Given the description of an element on the screen output the (x, y) to click on. 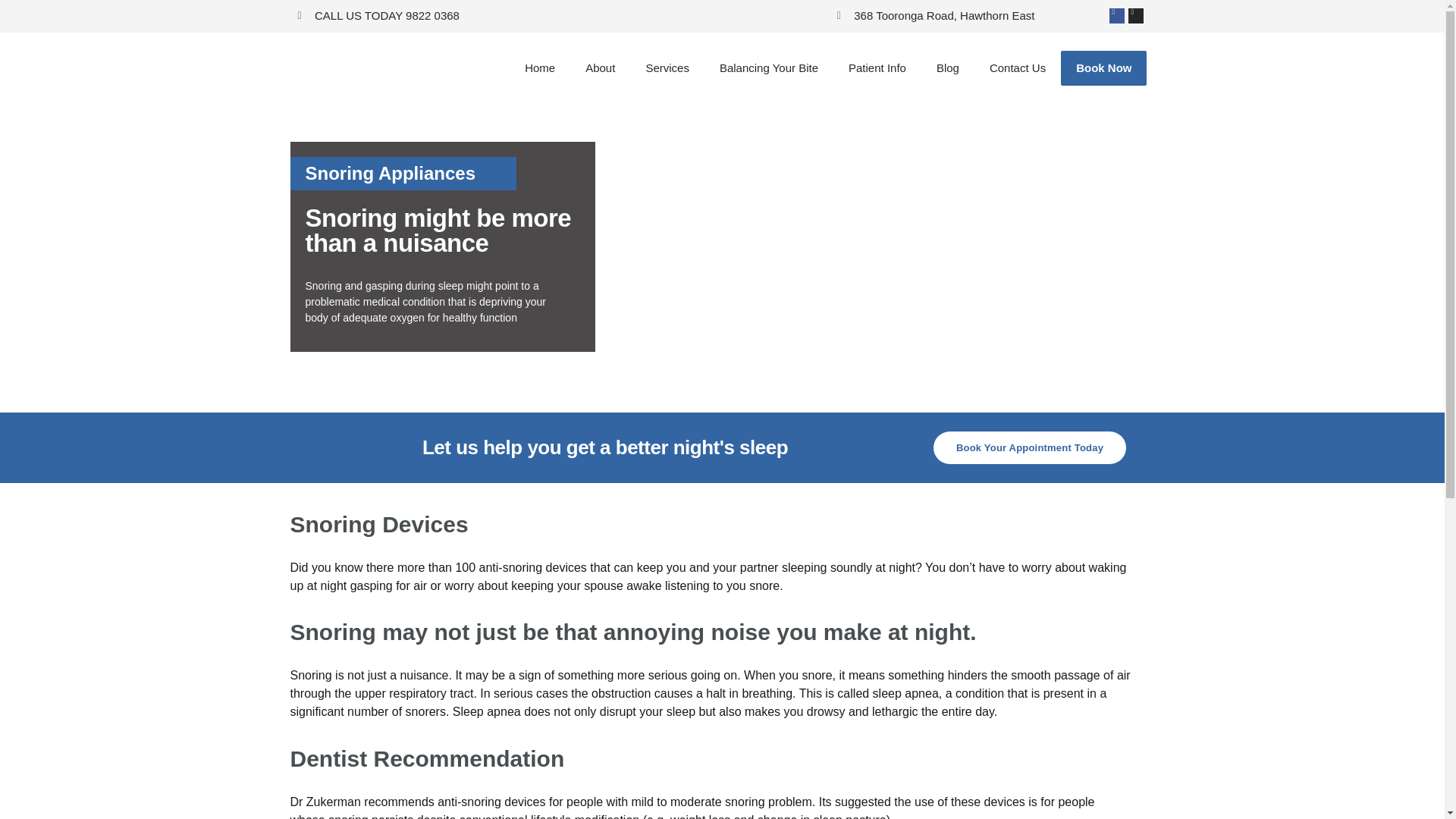
Home (539, 67)
368 Tooronga Road, Hawthorn East (936, 16)
Book Now (1104, 67)
Contact Us (1017, 67)
CALL US TODAY 9822 0368 (377, 16)
Blog (947, 67)
Patient Info (876, 67)
Services (667, 67)
Balancing Your Bite (768, 67)
About (600, 67)
